Given the description of an element on the screen output the (x, y) to click on. 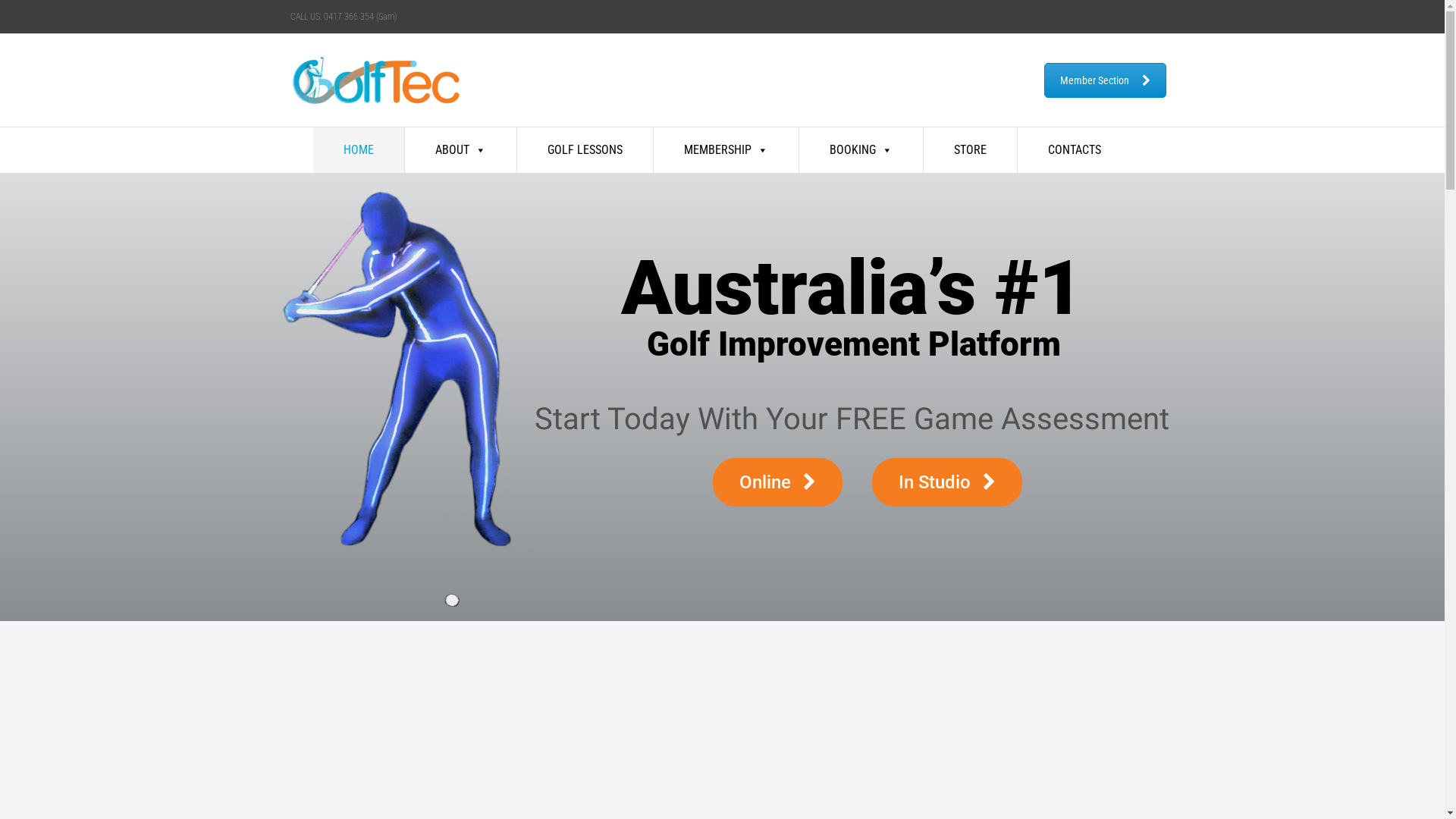
MEMBERSHIP Element type: text (726, 149)
STORE Element type: text (970, 149)
BOOKING Element type: text (861, 149)
GOLF LESSONS Element type: text (585, 149)
Skip to content Element type: text (289, 126)
ABOUT Element type: text (460, 149)
GolfTec Australia Element type: hover (384, 90)
CONTACTS Element type: text (1074, 149)
HOME Element type: text (358, 149)
Member Section Element type: text (1104, 79)
